Given the description of an element on the screen output the (x, y) to click on. 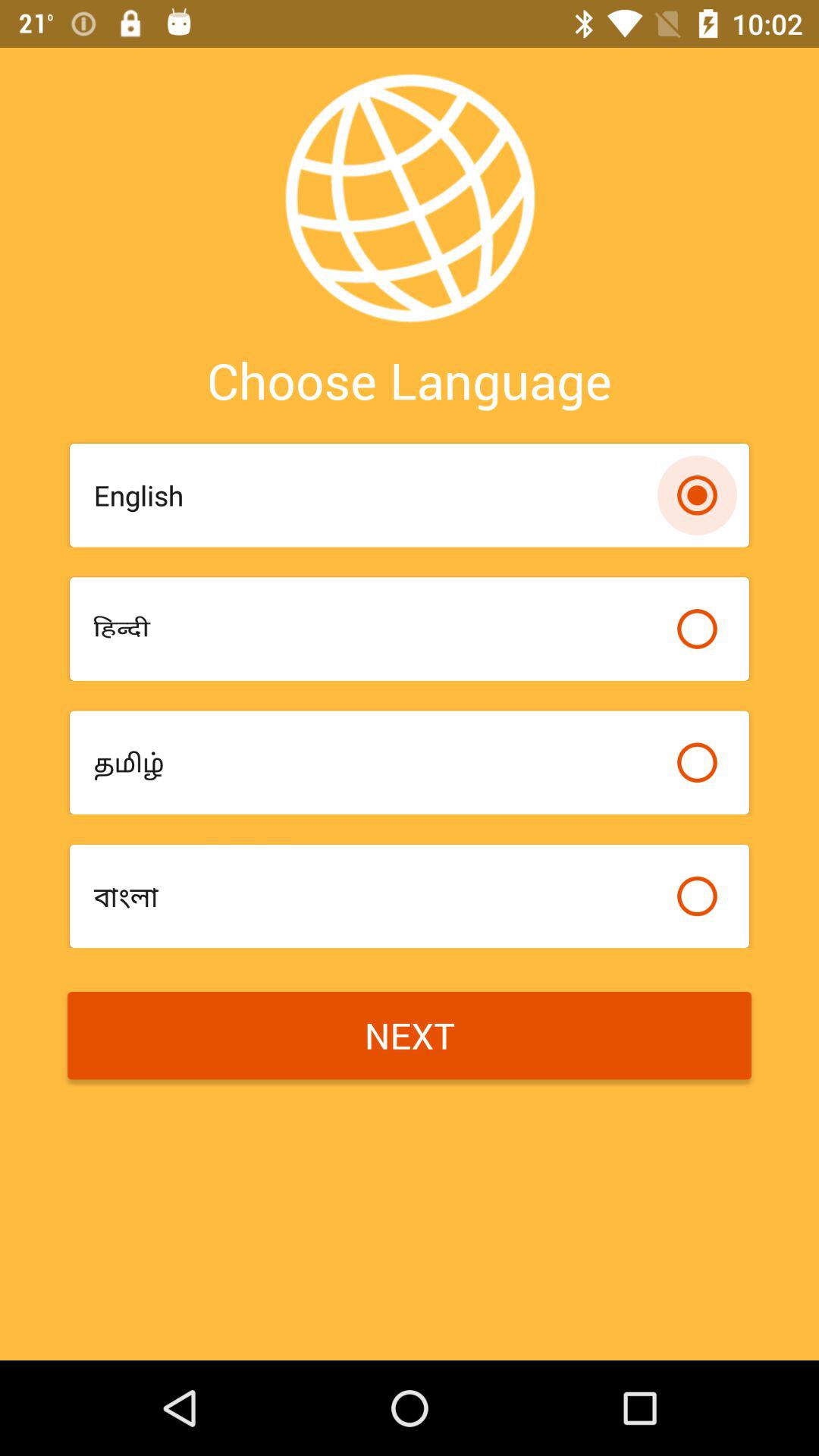
select language (697, 896)
